Given the description of an element on the screen output the (x, y) to click on. 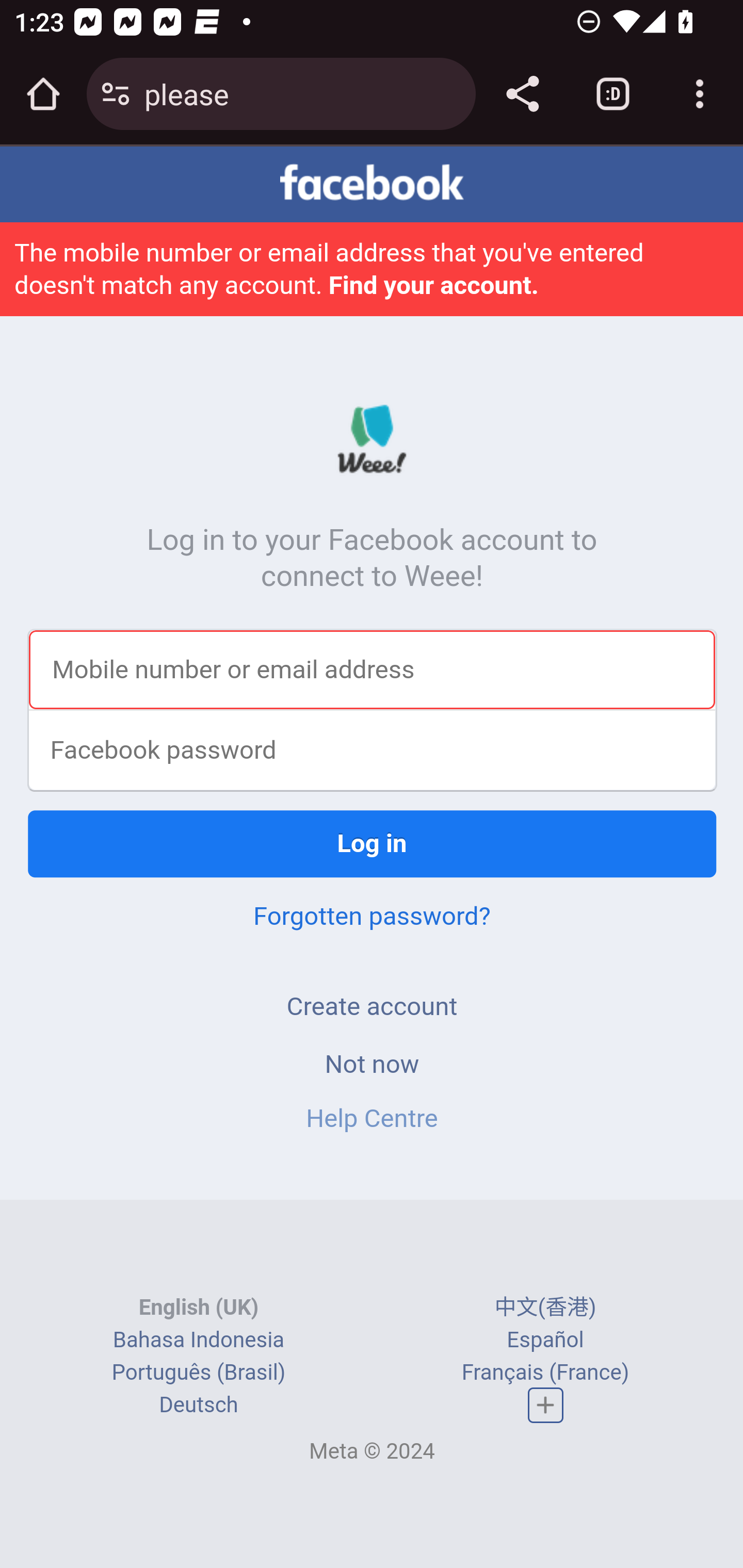
Open the home page (43, 93)
Connection is secure (115, 93)
Share (522, 93)
Switch or close tabs (612, 93)
Customize and control Google Chrome (699, 93)
please (302, 92)
